Given the description of an element on the screen output the (x, y) to click on. 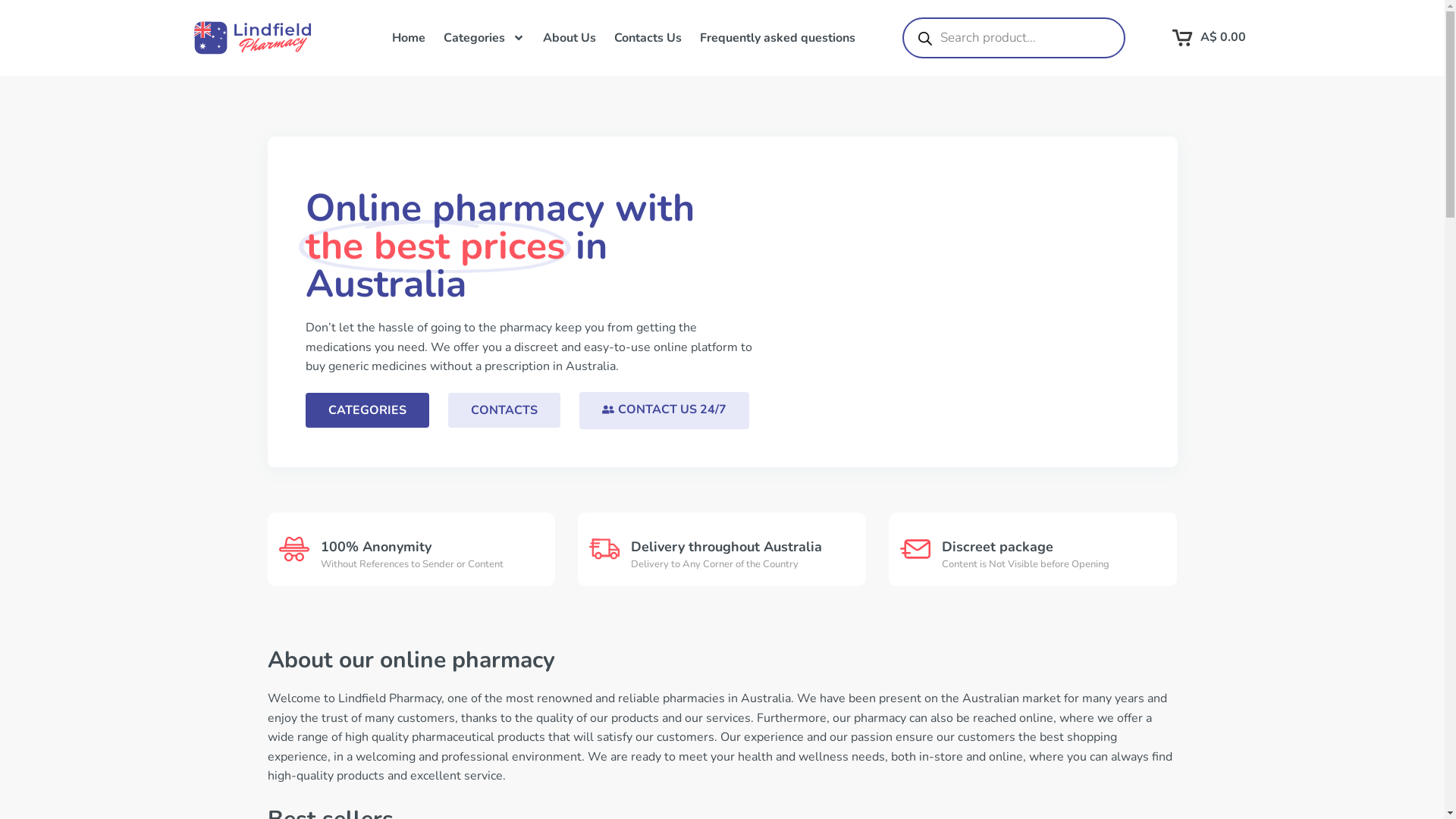
Categories Element type: text (483, 37)
CATEGORIES Element type: text (366, 409)
About Us Element type: text (569, 37)
Frequently asked questions Element type: text (776, 37)
CONTACT US 24/7 Element type: text (664, 410)
CONTACTS Element type: text (503, 409)
Home Element type: text (407, 37)
